Given the description of an element on the screen output the (x, y) to click on. 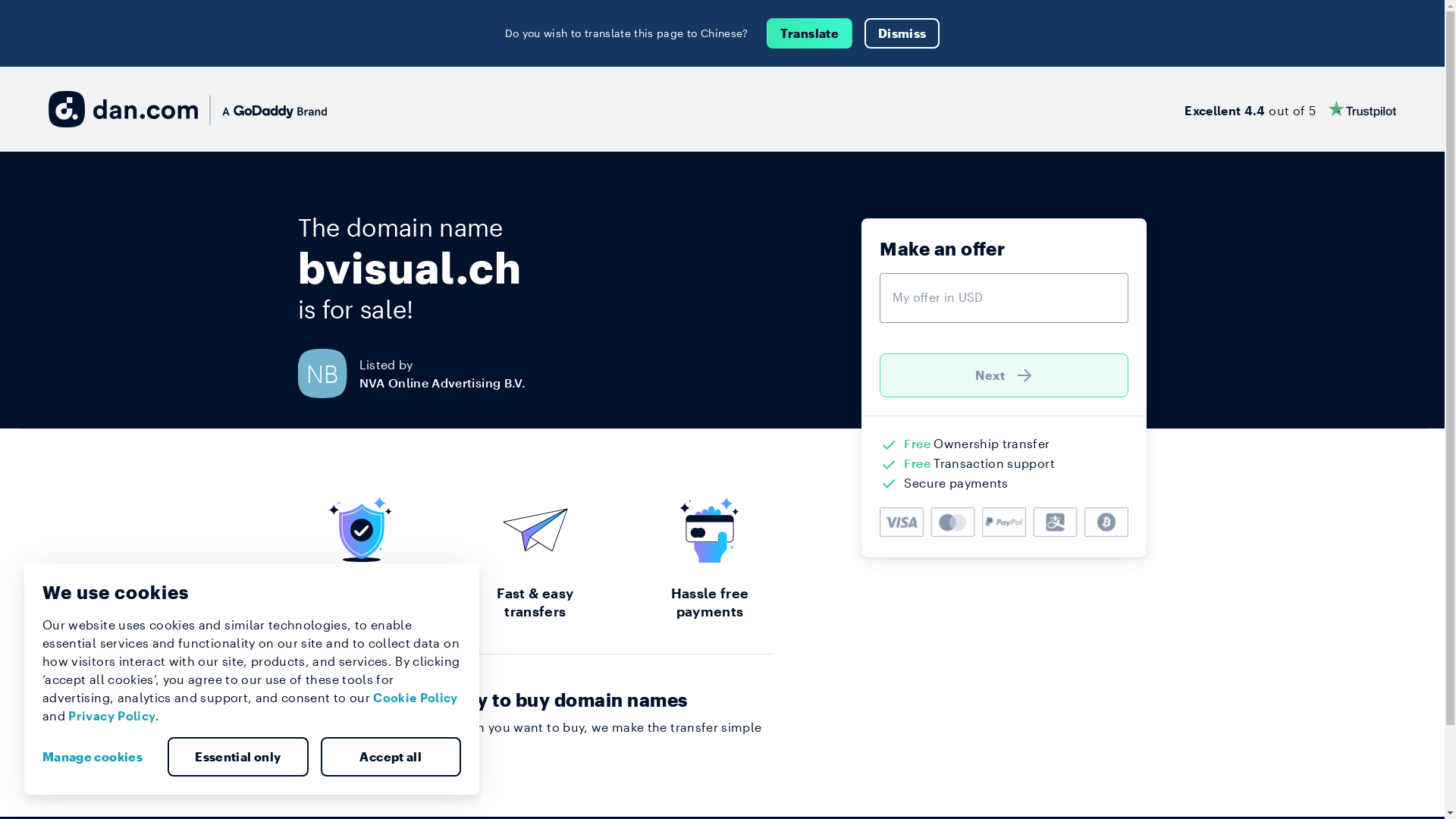
Translate Element type: text (809, 33)
Cookie Policy Element type: text (415, 697)
Privacy Policy Element type: text (111, 715)
Manage cookies Element type: text (98, 756)
Next
) Element type: text (1003, 375)
Dismiss Element type: text (901, 33)
Accept all Element type: text (390, 756)
Excellent 4.4 out of 5 Element type: text (1290, 109)
Essential only Element type: text (237, 756)
